Given the description of an element on the screen output the (x, y) to click on. 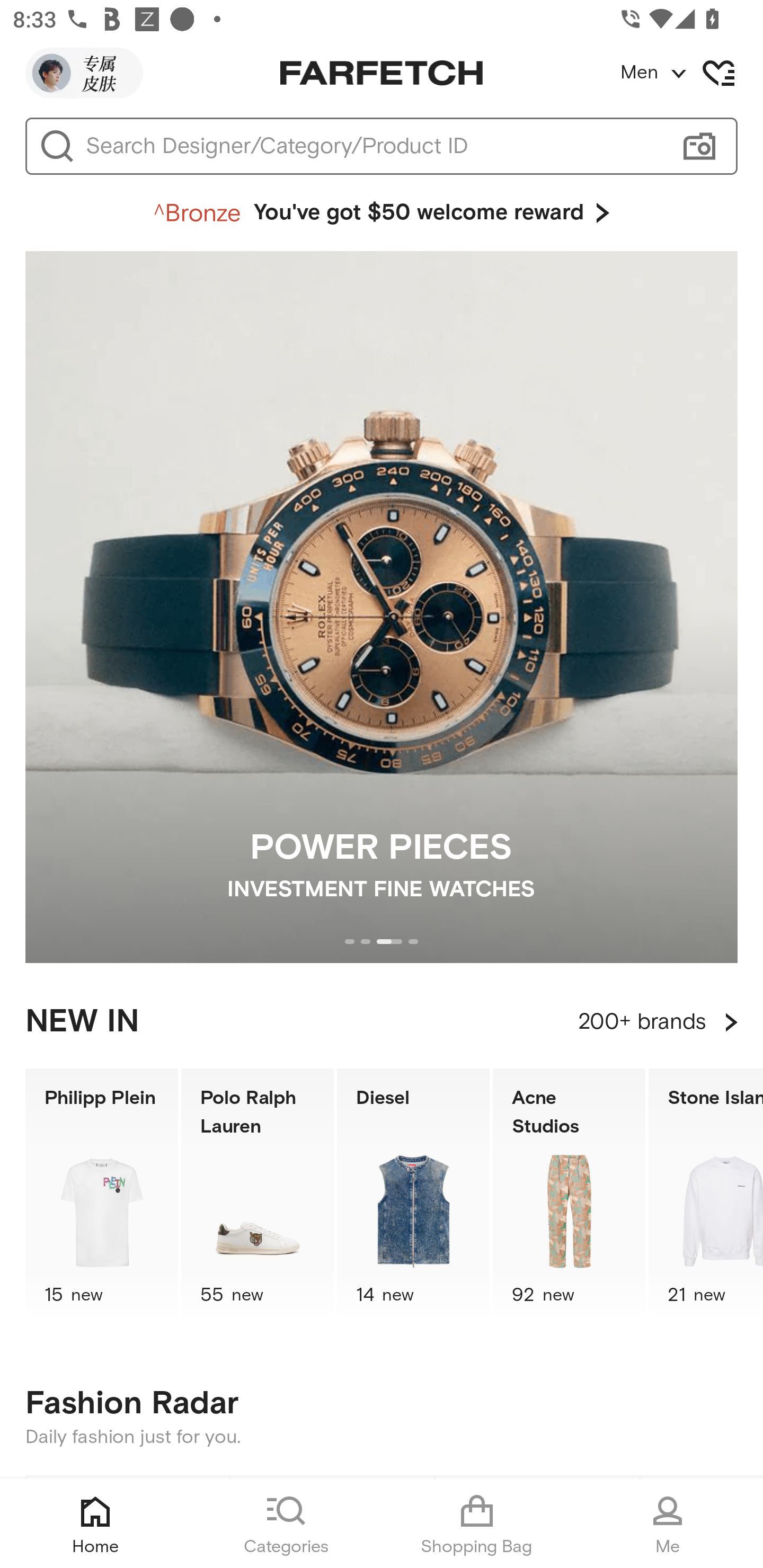
Men (691, 72)
Search Designer/Category/Product ID (373, 146)
You've got $50 welcome reward (381, 213)
NEW IN 200+ brands (381, 1021)
Philipp Plein 15  new (101, 1196)
Polo Ralph Lauren 55  new (257, 1196)
Diesel 14  new (413, 1196)
Acne Studios 92  new (568, 1196)
Stone Island 21  new (705, 1196)
Categories (285, 1523)
Shopping Bag (476, 1523)
Me (667, 1523)
